Given the description of an element on the screen output the (x, y) to click on. 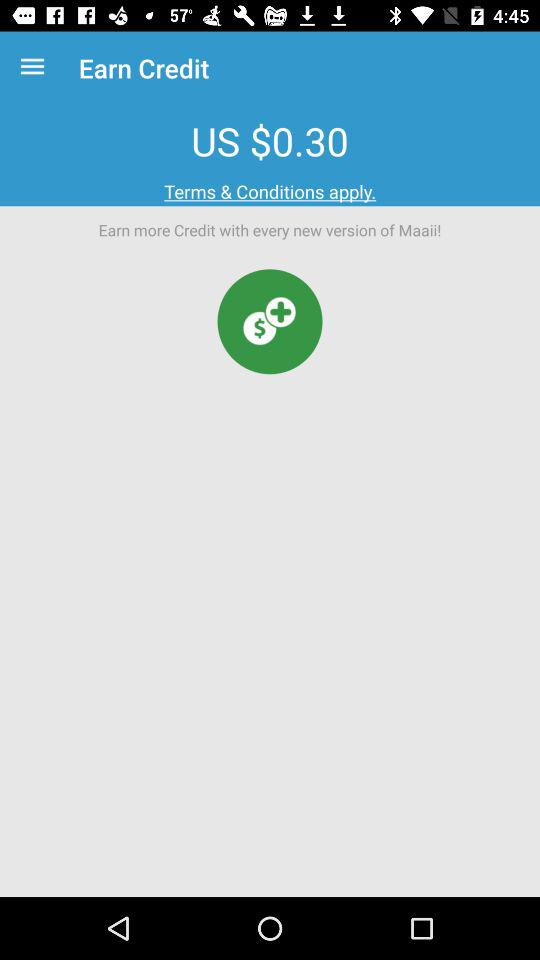
click the item next to earn credit item (36, 68)
